Given the description of an element on the screen output the (x, y) to click on. 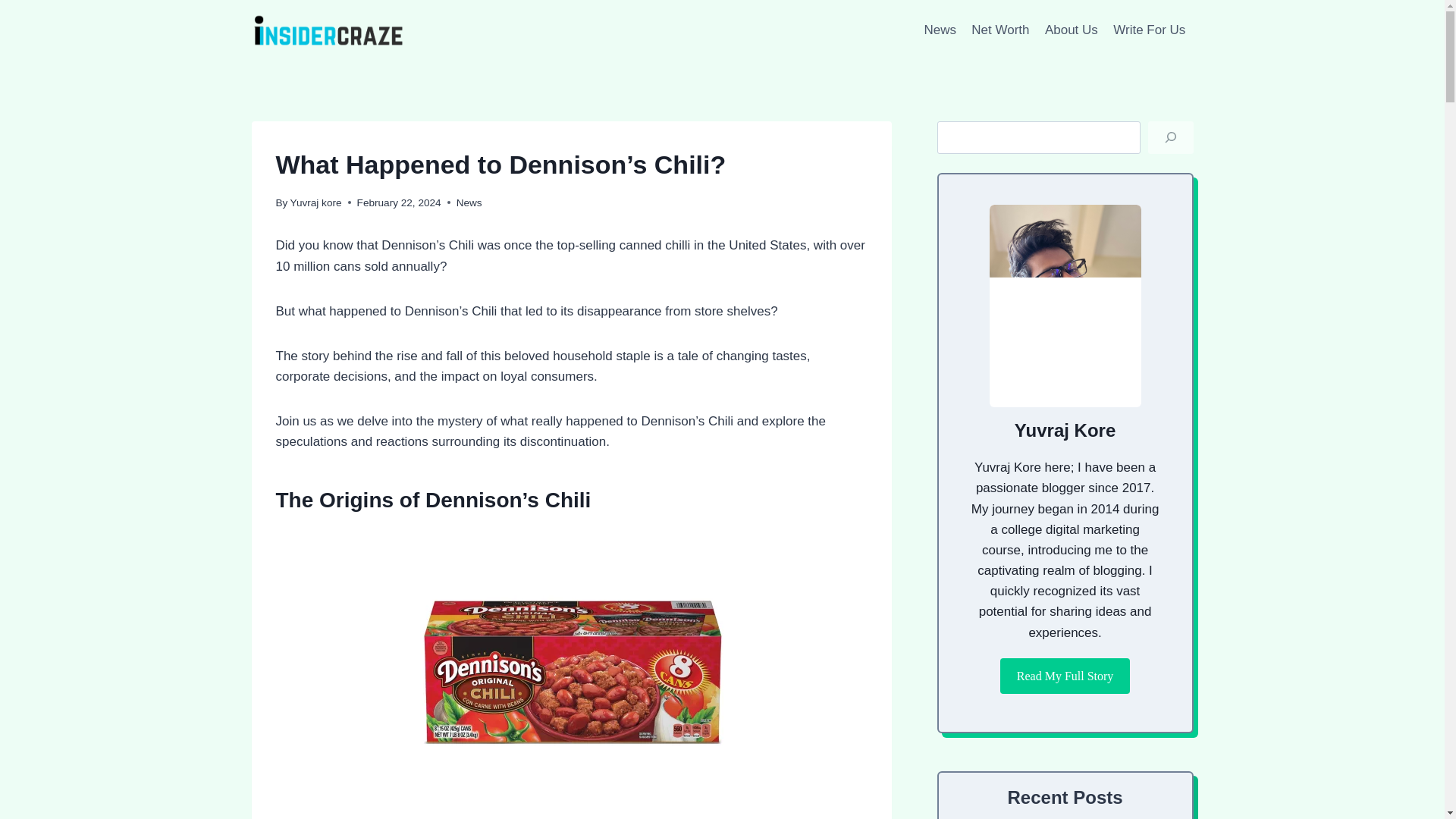
News (939, 30)
Net Worth (999, 30)
Write For Us (1148, 30)
Yuvraj kore (315, 202)
About Us (1070, 30)
News (469, 202)
